Given the description of an element on the screen output the (x, y) to click on. 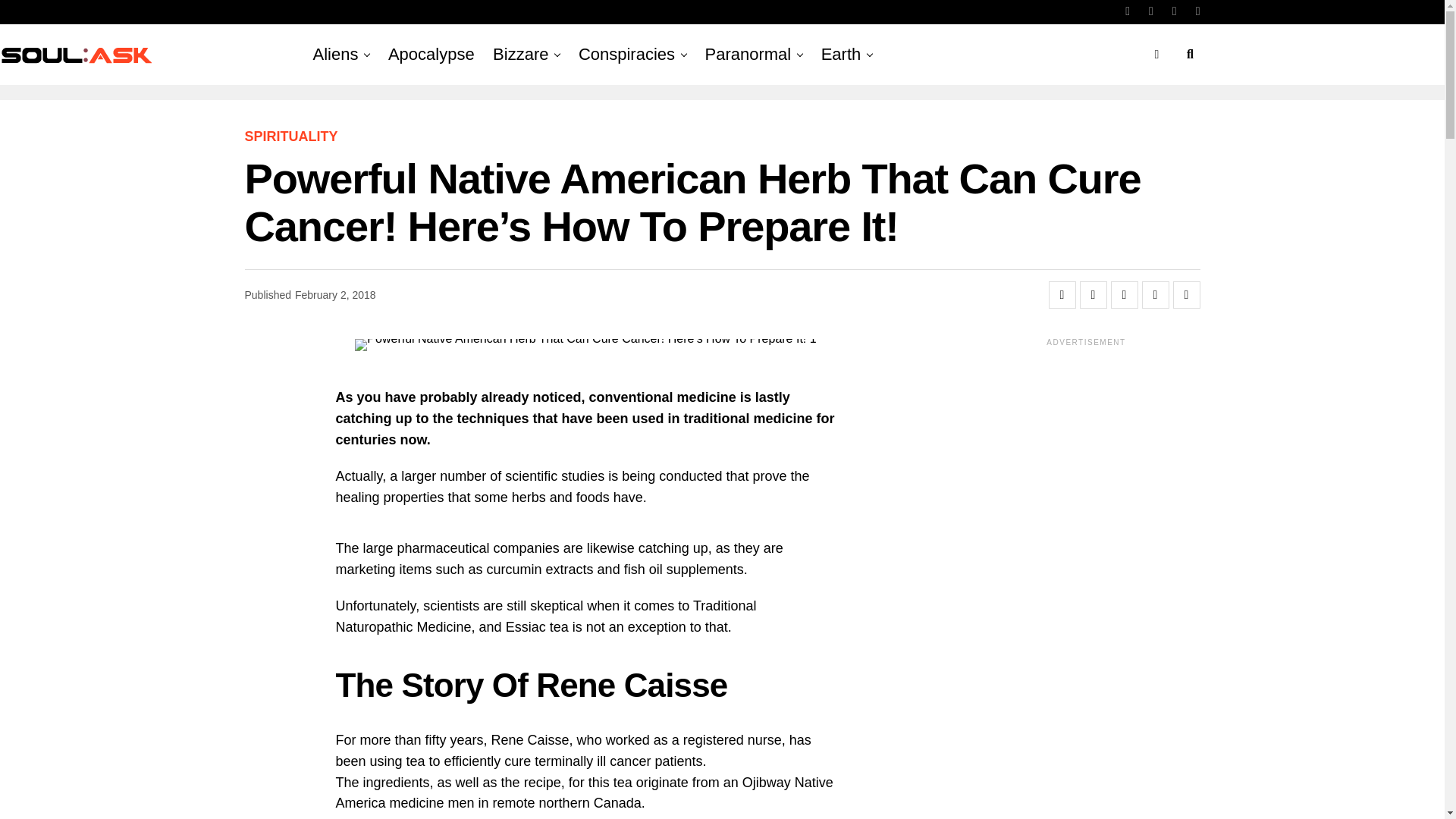
Tweet This Post (1093, 294)
Share on Facebook (1061, 294)
